Given the description of an element on the screen output the (x, y) to click on. 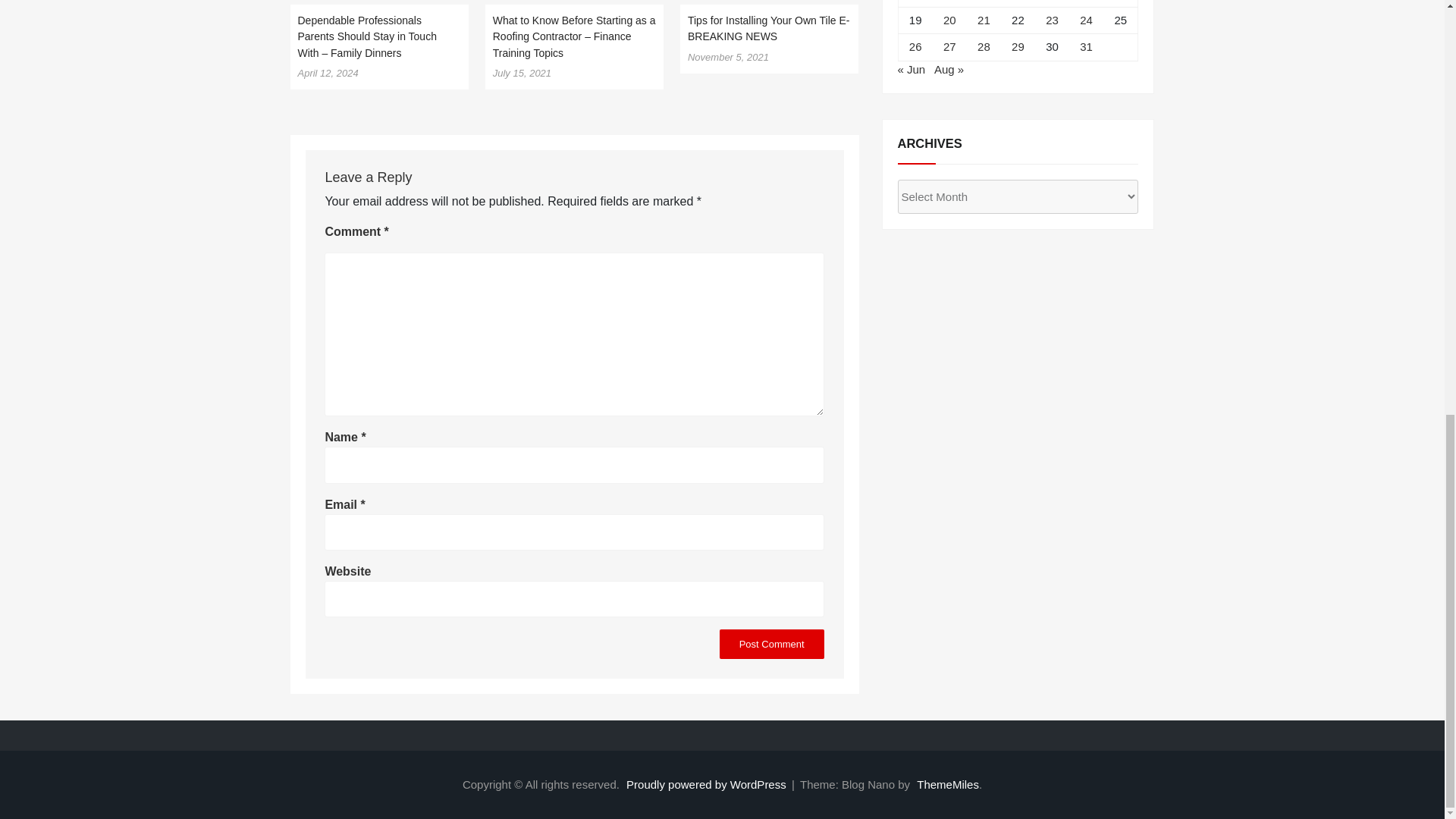
Post Comment (771, 644)
Post Comment (771, 644)
Tips for Installing Your Own Tile E-BREAKING NEWS (767, 28)
